Given the description of an element on the screen output the (x, y) to click on. 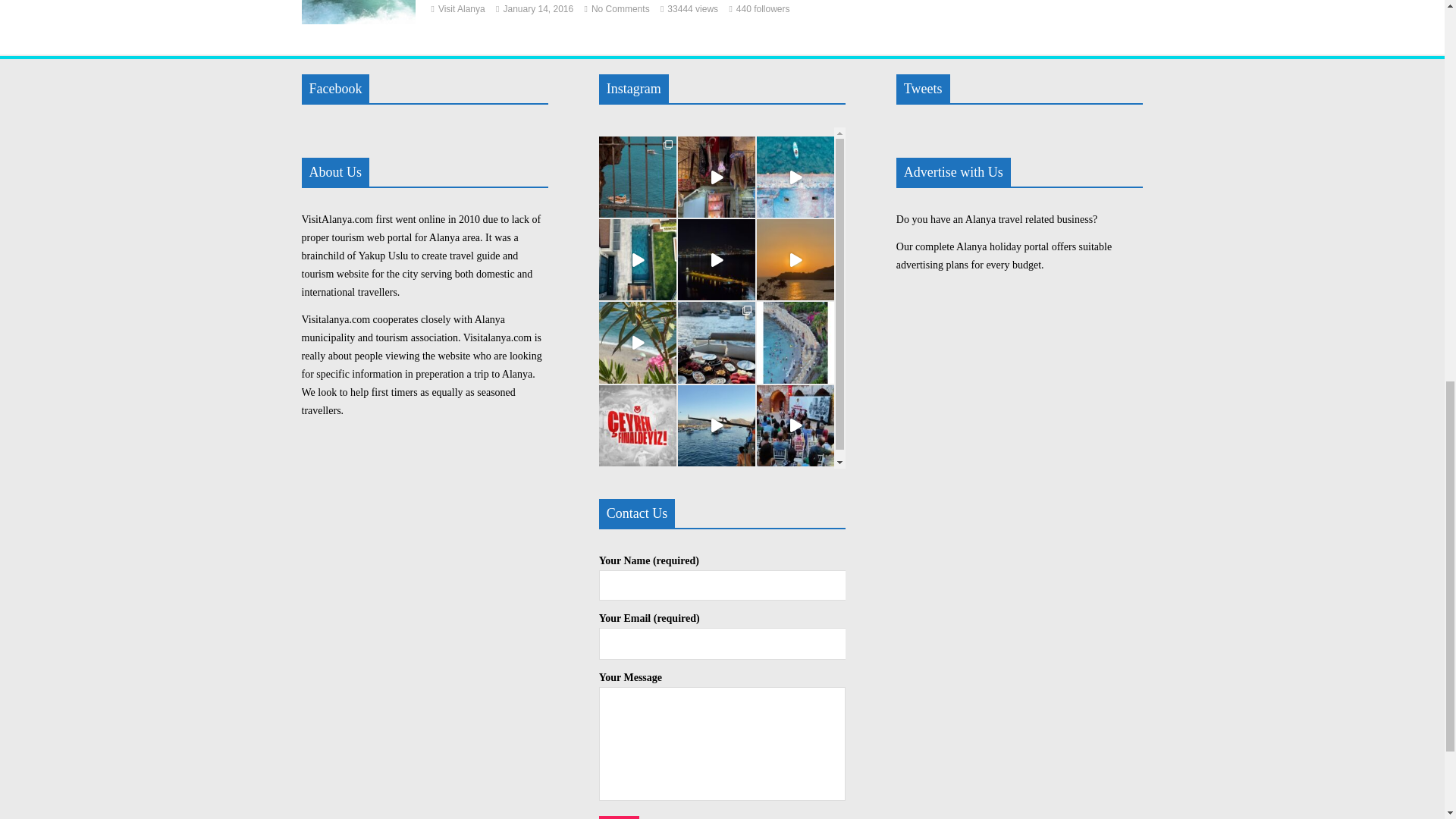
Send (618, 817)
